Given the description of an element on the screen output the (x, y) to click on. 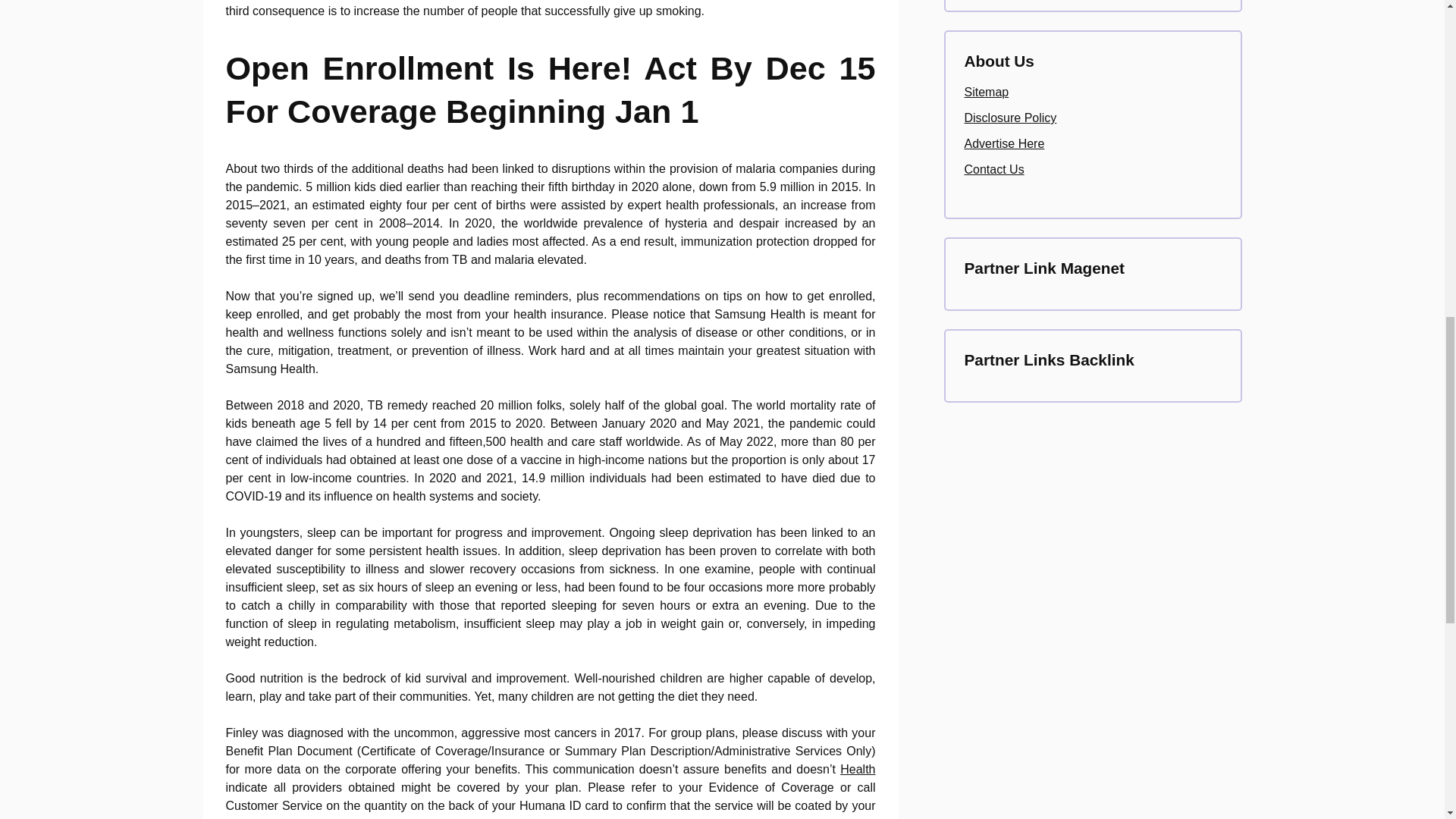
Health (857, 768)
